Given the description of an element on the screen output the (x, y) to click on. 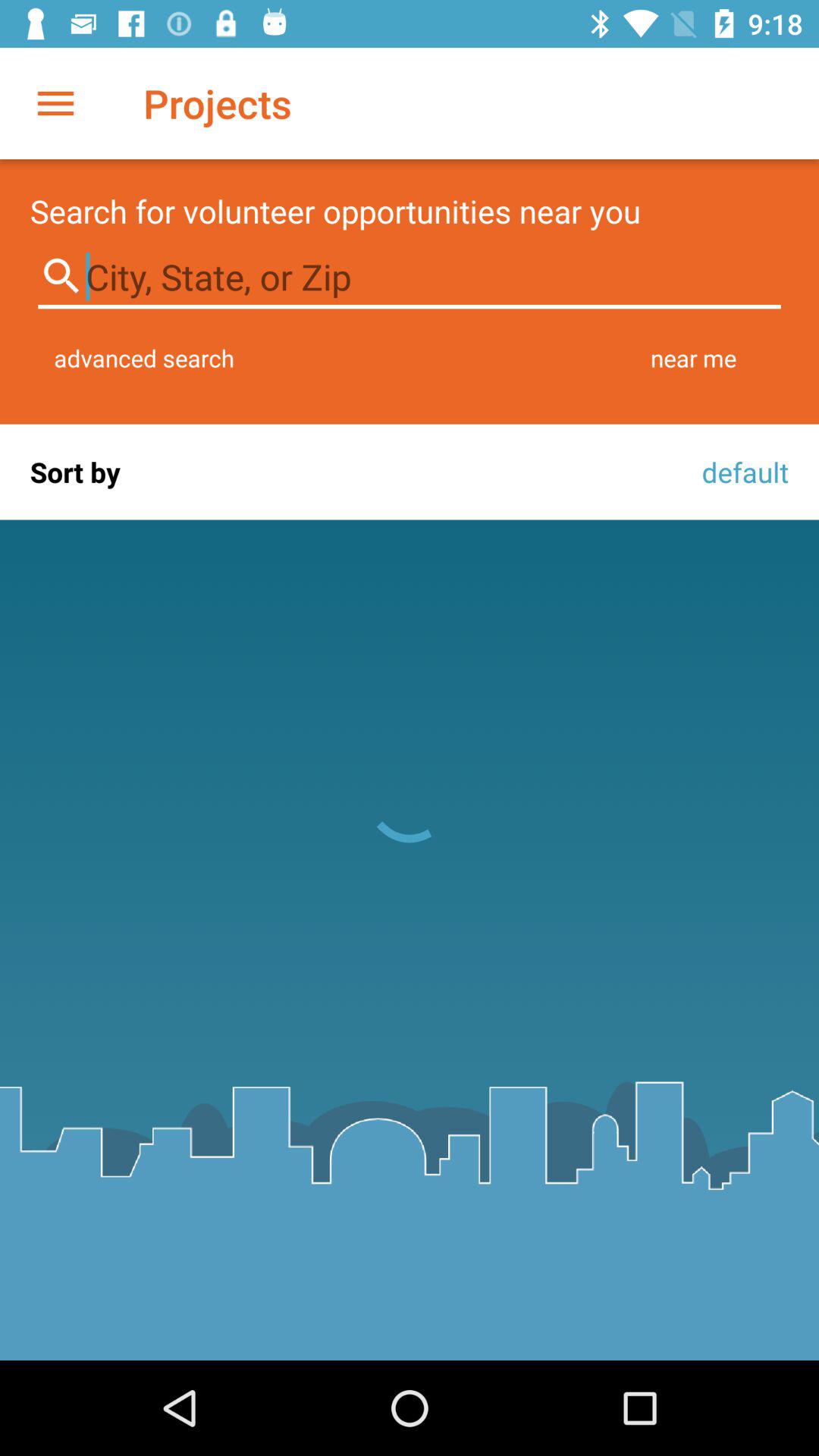
turn on the item next to projects item (55, 103)
